Given the description of an element on the screen output the (x, y) to click on. 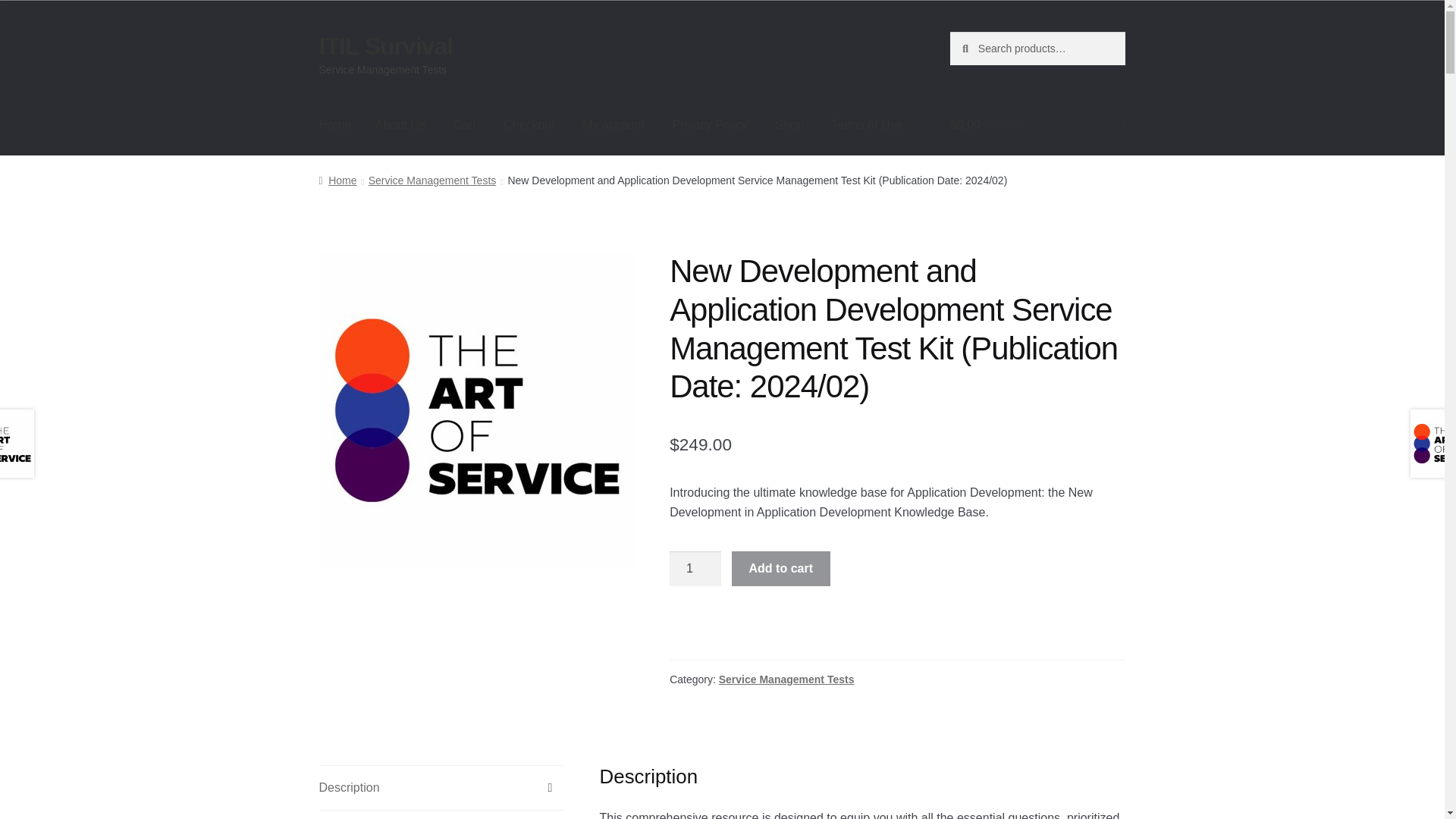
Home (335, 124)
Home (337, 180)
ITIL Survival (385, 45)
Service Management Tests (432, 180)
1 (694, 568)
My account (613, 124)
Service Management Tests (786, 679)
About Us (400, 124)
Description (441, 787)
